Given the description of an element on the screen output the (x, y) to click on. 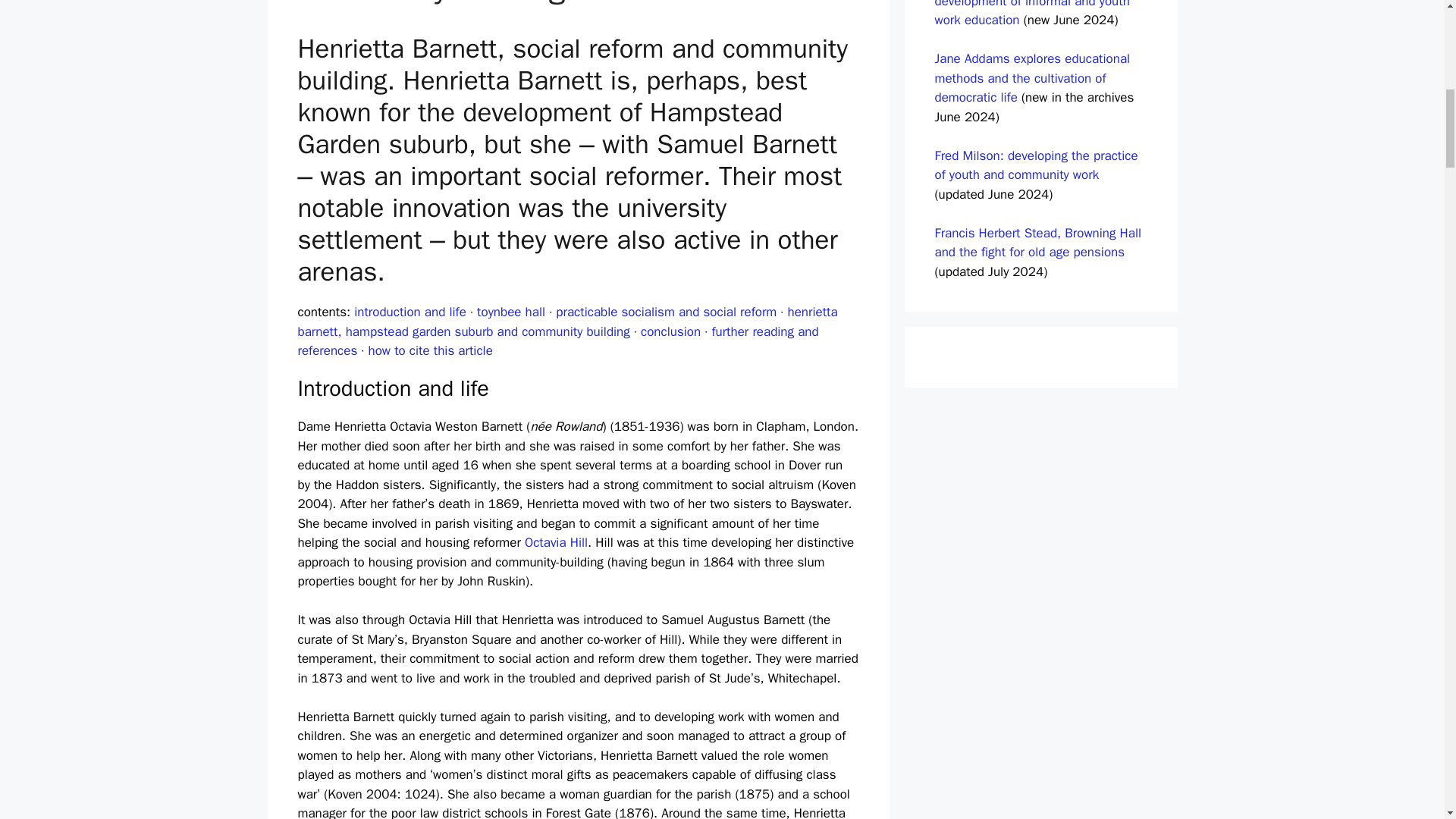
how to cite this article (430, 350)
introduction and life (409, 311)
further reading and references (557, 341)
Octavia Hill (556, 542)
practicable socialism and social reform (666, 311)
toynbee hall (510, 311)
conclusion (670, 331)
